Given the description of an element on the screen output the (x, y) to click on. 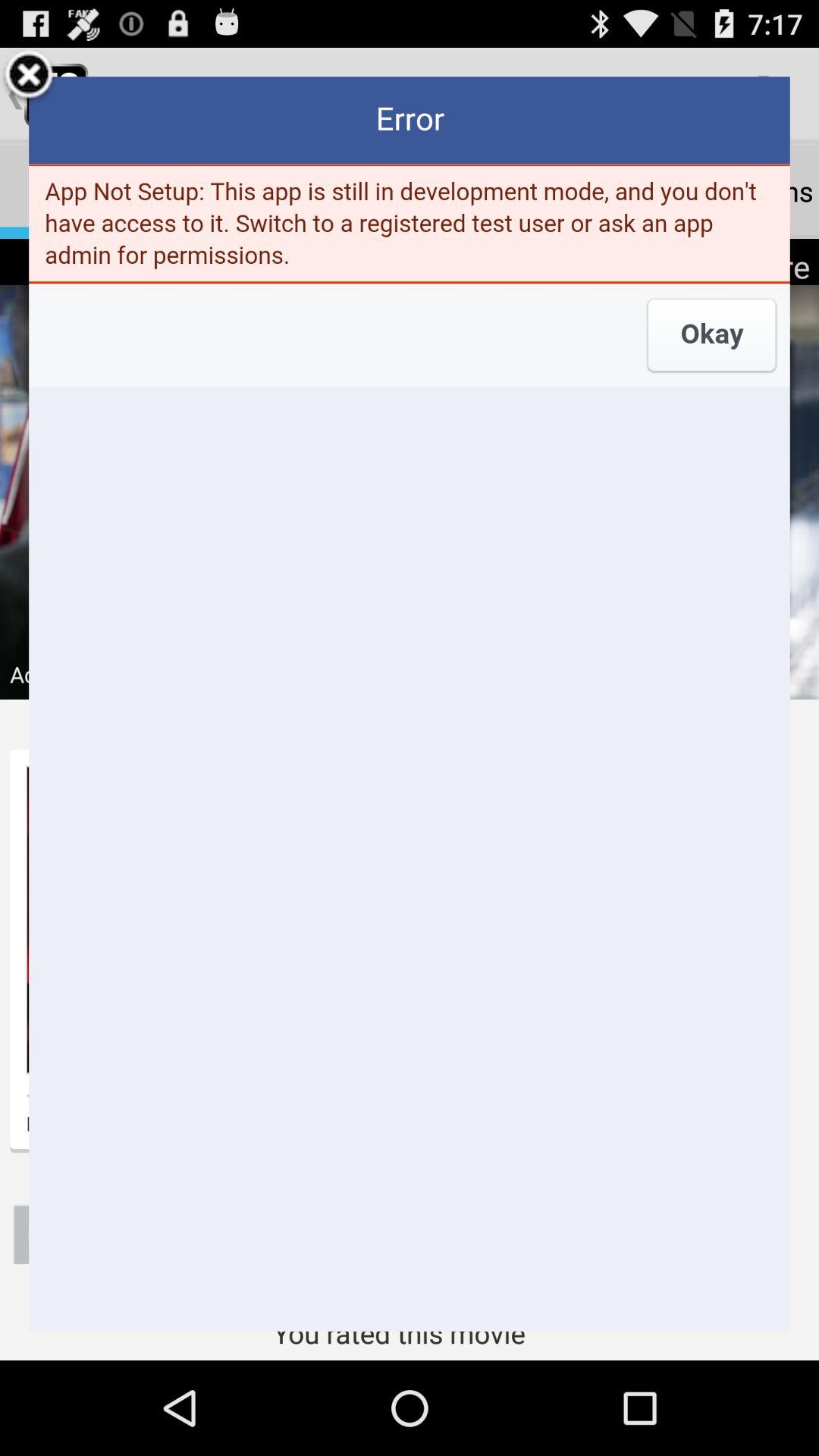
close the box (29, 76)
